Given the description of an element on the screen output the (x, y) to click on. 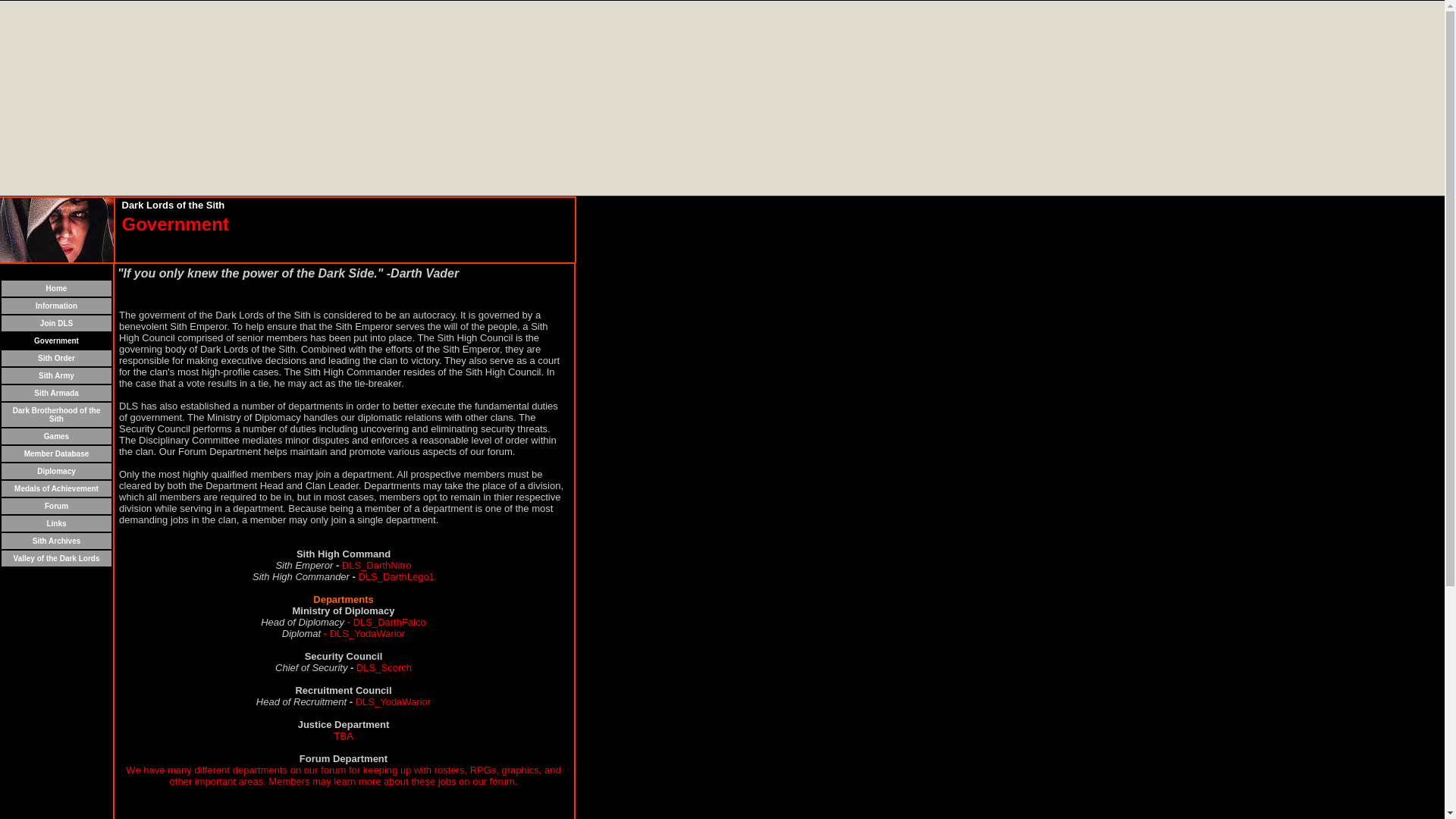
Join DLS (56, 321)
Forum (56, 504)
Valley of the Dark Lords (56, 556)
Sith Archives (56, 539)
Games (55, 434)
Information (55, 304)
Home (56, 286)
Diplomacy (56, 469)
Government (55, 338)
Sith Order (56, 356)
Links (55, 521)
Dark Brotherhood of the Sith (56, 413)
Medals of Achievement (56, 486)
Sith Armada (55, 391)
Member Database (56, 451)
